Given the description of an element on the screen output the (x, y) to click on. 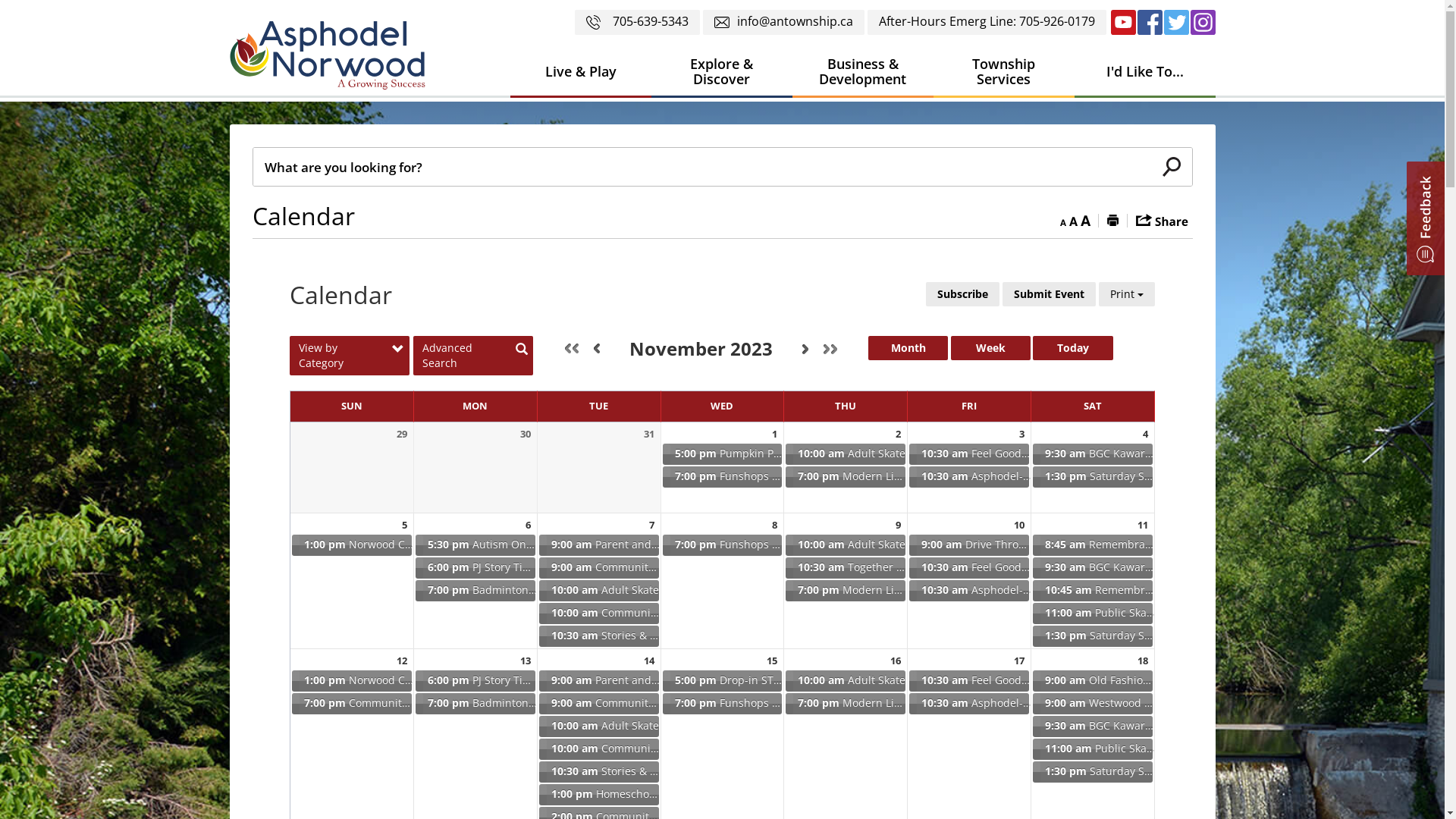
7:00 pm Community Choir Practice Element type: text (351, 703)
Submit Event Element type: text (1048, 294)
Increase text size Element type: hover (1084, 219)
9:00 am Parent and Tot Skate Element type: text (598, 544)
7:00 pm Badminton Club Element type: text (475, 703)
7:00 pm Modern Line Dancing with Rhonda Johnson Element type: text (845, 703)
7:00 pm Modern Line Dancing with Rhonda Johnson Element type: text (845, 476)
10:00 am Adult Skate Element type: text (845, 544)
9:30 am BGC Kawarthas - Kid Tech Nation Element type: text (1092, 453)
9:30 am BGC Kawarthas - Kid Tech Nation Element type: text (1092, 567)
Print This Page Element type: hover (1112, 219)
10:45 am Remembrance Day Service Element type: text (1092, 590)
5:30 pm Autism Ontario - Pizza and Game Night Element type: text (475, 544)
Icon - View by Category Element type: hover (397, 349)
Explore & Discover Element type: text (720, 72)
Advanced Search Element type: text (473, 355)
View by Category Element type: text (349, 355)
9:00 am Parent and Tot Skate Element type: text (598, 680)
9:00 am Westwood Craft Sale Element type: text (1092, 703)
10:30 am Feel Good Fridays Element type: text (968, 453)
7:00 pm Badminton Club Element type: text (475, 590)
10:00 am Adult Skate Element type: text (845, 453)
I'd Like To... Element type: text (1143, 72)
10:00 am Adult Skate Element type: text (598, 590)
1:00 pm Norwood Curling Club Element type: text (351, 544)
9:00 am Community Care Fitness Classes - Circuit Training Element type: text (598, 703)
6:00 pm PJ Story Time Element type: text (475, 567)
7:00 pm Funshops at NPC Element type: text (722, 544)
10:00 am Community Care Fitness Classes - Line Dancing Element type: text (598, 613)
7:00 pm Funshops at NPC Element type: text (722, 703)
10:30 am Feel Good Fridays Element type: text (968, 567)
6:00 pm PJ Story Time Element type: text (475, 680)
After-Hours Emerg Line: 705-926-0179 Element type: text (986, 21)
10:00 am Adult Skate Element type: text (845, 680)
10:30 am Stories & More with Ms. Trish Element type: text (598, 635)
10:30 am Stories & More with Ms. Trish Element type: text (598, 771)
10:30 am Asphodel-Norwood Public Library - Feel Good Fridays Element type: text (968, 476)
1:30 pm Saturday Stories Element type: text (1092, 771)
Live & Play Element type: text (579, 72)
10:30 am Asphodel-Norwood Public Library - Feel Good Fridays Element type: text (968, 590)
Township Services Element type: text (1002, 72)
1:00 pm Homeschooler's at the Library Element type: text (598, 794)
Subscribe Element type: text (962, 294)
10:00 am Adult Skate Element type: text (598, 726)
9:00 am Community Care Fitness Classes - Circuit Training Element type: text (598, 567)
Click to return to the homepage Element type: hover (326, 55)
9:00 am Old Fashioned Christmas Element type: text (1092, 680)
10:30 am Asphodel-Norwood Public Library - Feel Good Fridays Element type: text (968, 703)
8:45 am Remembrance Day Service Element type: text (1092, 544)
Share This Page Element type: hover (1161, 219)
Today Element type: text (1072, 347)
7:00 pm Funshops at NPC Element type: text (722, 476)
Enter search keywords Element type: hover (702, 166)
11:00 am Public Skating Element type: text (1092, 748)
Business & Development Element type: text (861, 72)
1:00 pm Norwood Curling Club Element type: text (351, 680)
SEARCH Element type: text (1171, 166)
View our Homepage Element type: hover (332, 59)
1:30 pm Saturday Stories Element type: text (1092, 476)
10:30 am Feel Good Fridays Element type: text (968, 680)
1:30 pm Saturday Stories Element type: text (1092, 635)
7:00 pm Modern Line Dancing with Rhonda Johnson Element type: text (845, 590)
9:00 am Drive Through Flu Clinic Element type: text (968, 544)
Feedback Element type: text (1425, 218)
5:00 pm Pumpkin Parade Element type: text (722, 453)
Print  Element type: text (1126, 294)
9:30 am BGC Kawarthas - Kid Tech Nation Element type: text (1092, 726)
Month Element type: text (907, 347)
5:00 pm Drop-in STEAM Night Element type: text (722, 680)
10:00 am Community Care Fitness Classes - Line Dancing Element type: text (598, 748)
Default text size Element type: hover (1073, 219)
Decrease text size Element type: hover (1063, 219)
10:30 am Together Stitching Element type: text (845, 567)
Icon - Advanced Search Element type: hover (521, 349)
info@antownship.ca Element type: text (782, 21)
Week Element type: text (990, 347)
705-639-5343 Element type: text (636, 21)
Skip to Content Element type: text (0, 0)
